Given the description of an element on the screen output the (x, y) to click on. 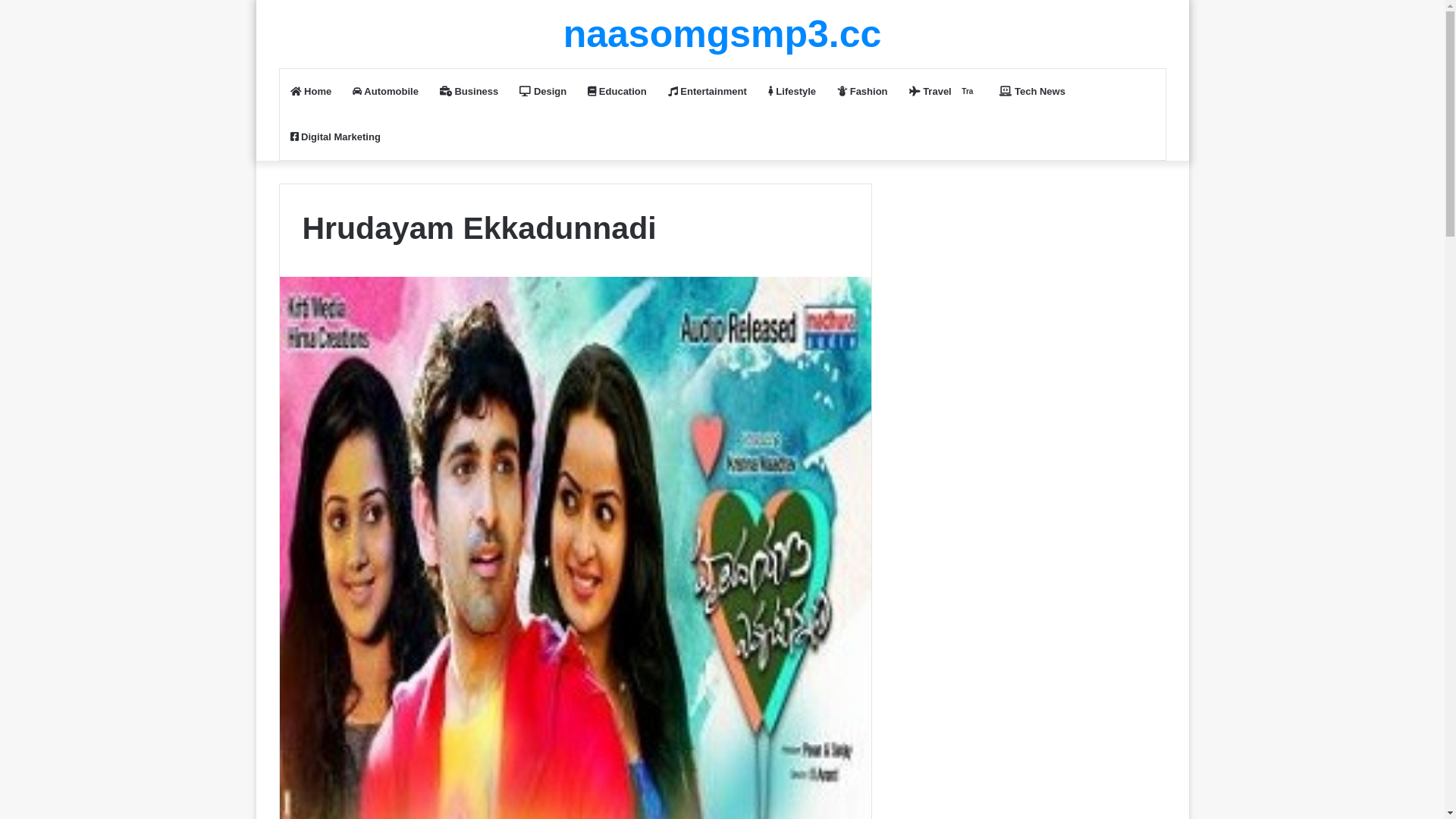
Home Element type: text (310, 91)
naasomgsmp3.cc Element type: text (722, 34)
Lifestyle Element type: text (791, 91)
Entertainment Element type: text (707, 91)
Digital Marketing Element type: text (334, 137)
Fashion Element type: text (861, 91)
Tech News Element type: text (1032, 91)
Education Element type: text (616, 91)
Business Element type: text (468, 91)
Automobile Element type: text (385, 91)
Travel Tra Element type: text (943, 91)
Design Element type: text (542, 91)
